Given the description of an element on the screen output the (x, y) to click on. 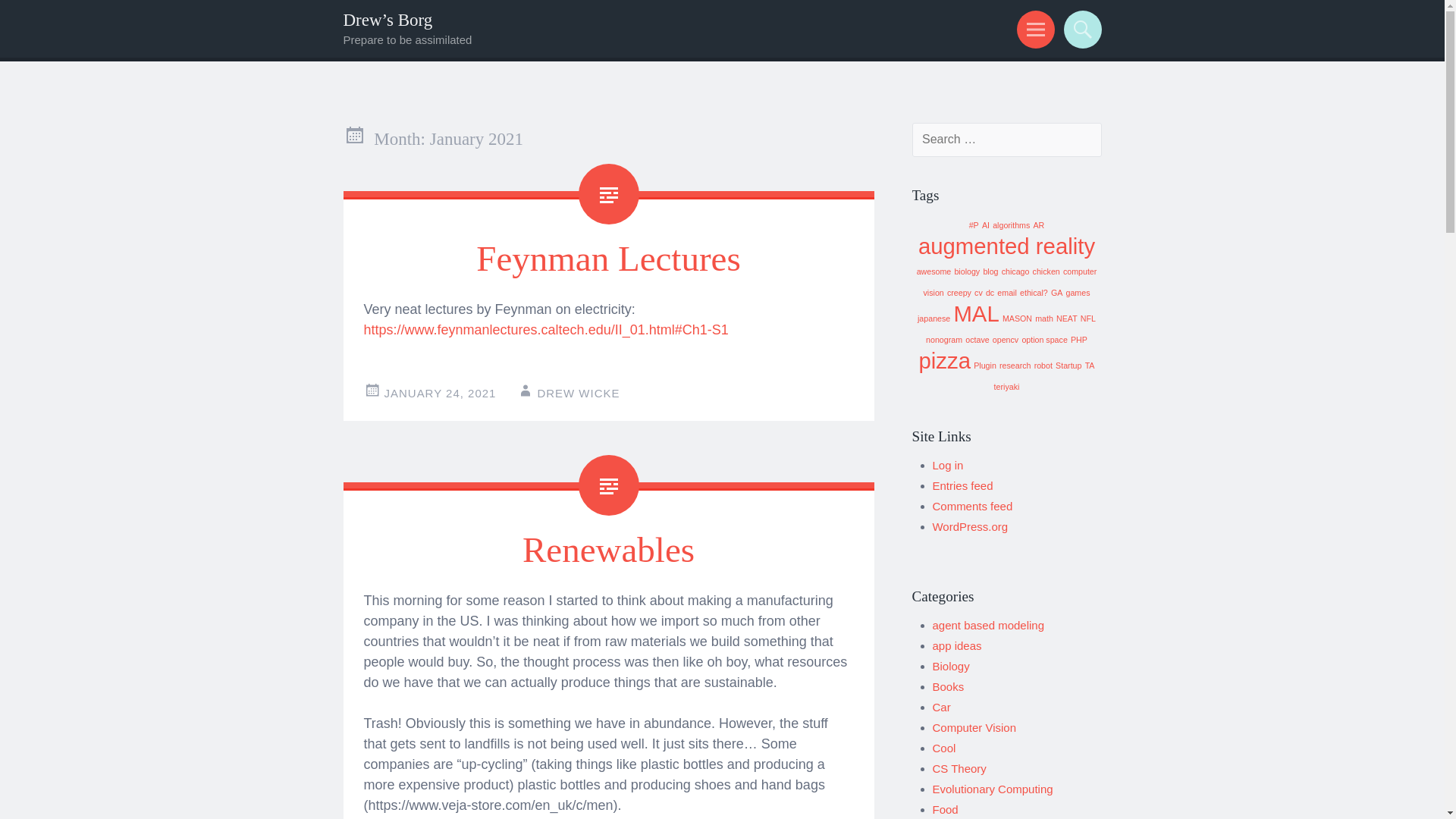
biology (966, 271)
Renewables (608, 549)
cv (978, 292)
ethical? (1034, 292)
awesome (934, 271)
View all posts by Drew Wicke (578, 392)
GA (1056, 292)
japanese (933, 317)
email (1006, 292)
Feynman Lectures (607, 258)
